Given the description of an element on the screen output the (x, y) to click on. 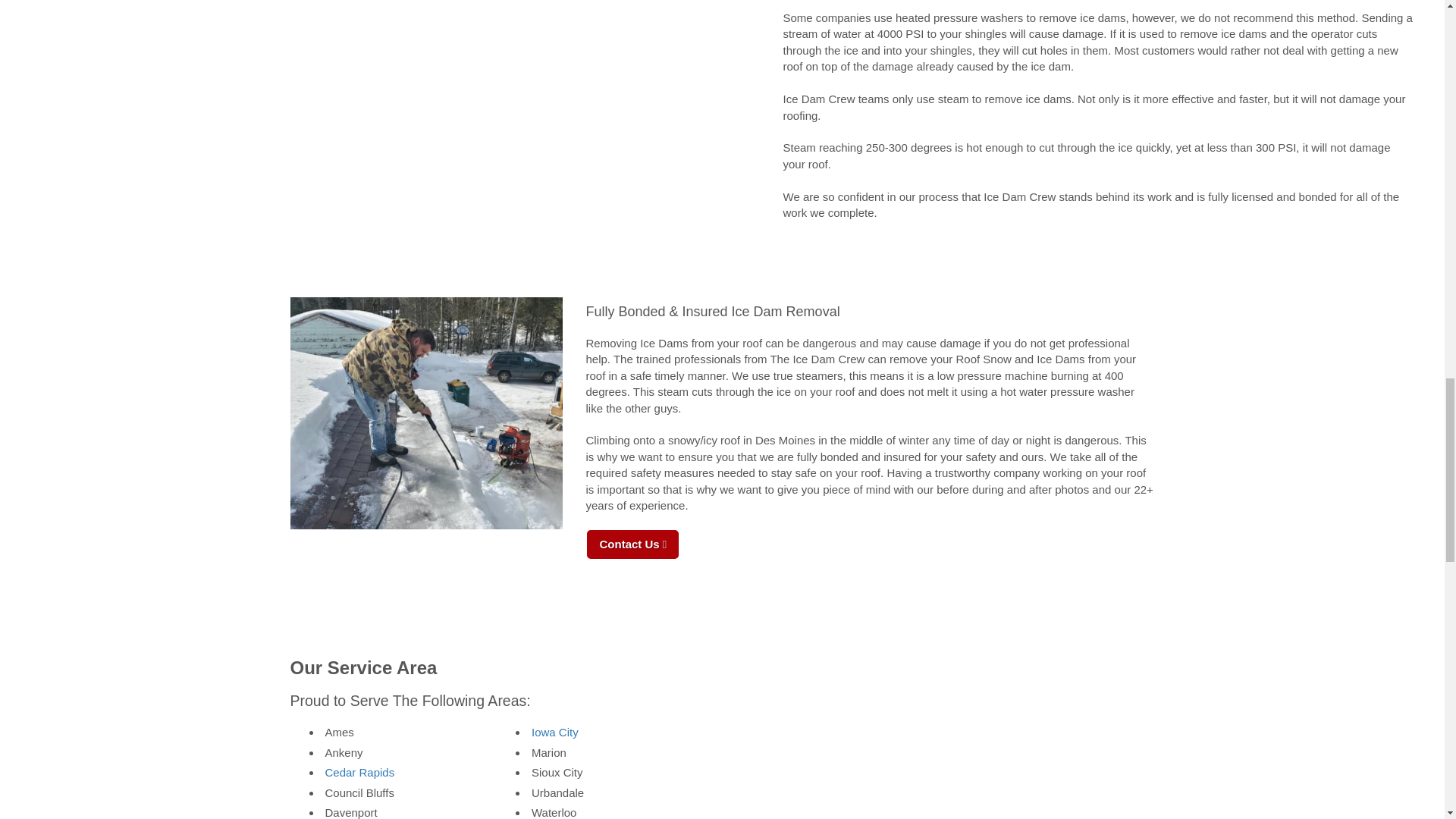
Des Moines ice dam removal (425, 413)
